Given the description of an element on the screen output the (x, y) to click on. 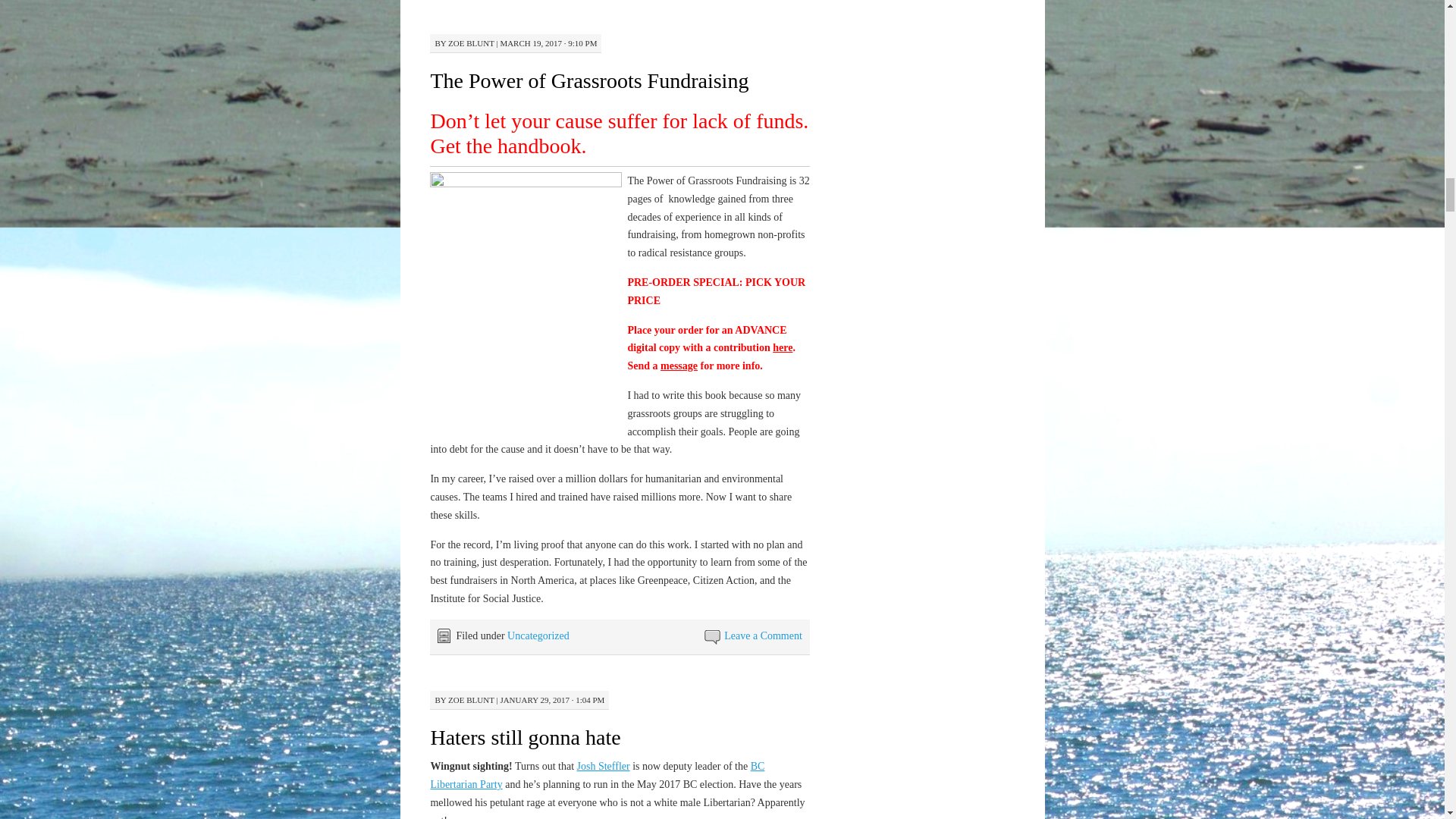
Josh Steffler (603, 766)
Uncategorized (537, 635)
here (782, 347)
Leave a Comment (762, 635)
View all posts by Zoe Blunt (471, 699)
ZOE BLUNT (471, 699)
BC Libertarian Party (596, 775)
message (679, 365)
The Power of Grassroots Fundraising (588, 80)
Haters still gonna hate (524, 737)
ZOE BLUNT (471, 42)
View all posts by Zoe Blunt (471, 42)
